Given the description of an element on the screen output the (x, y) to click on. 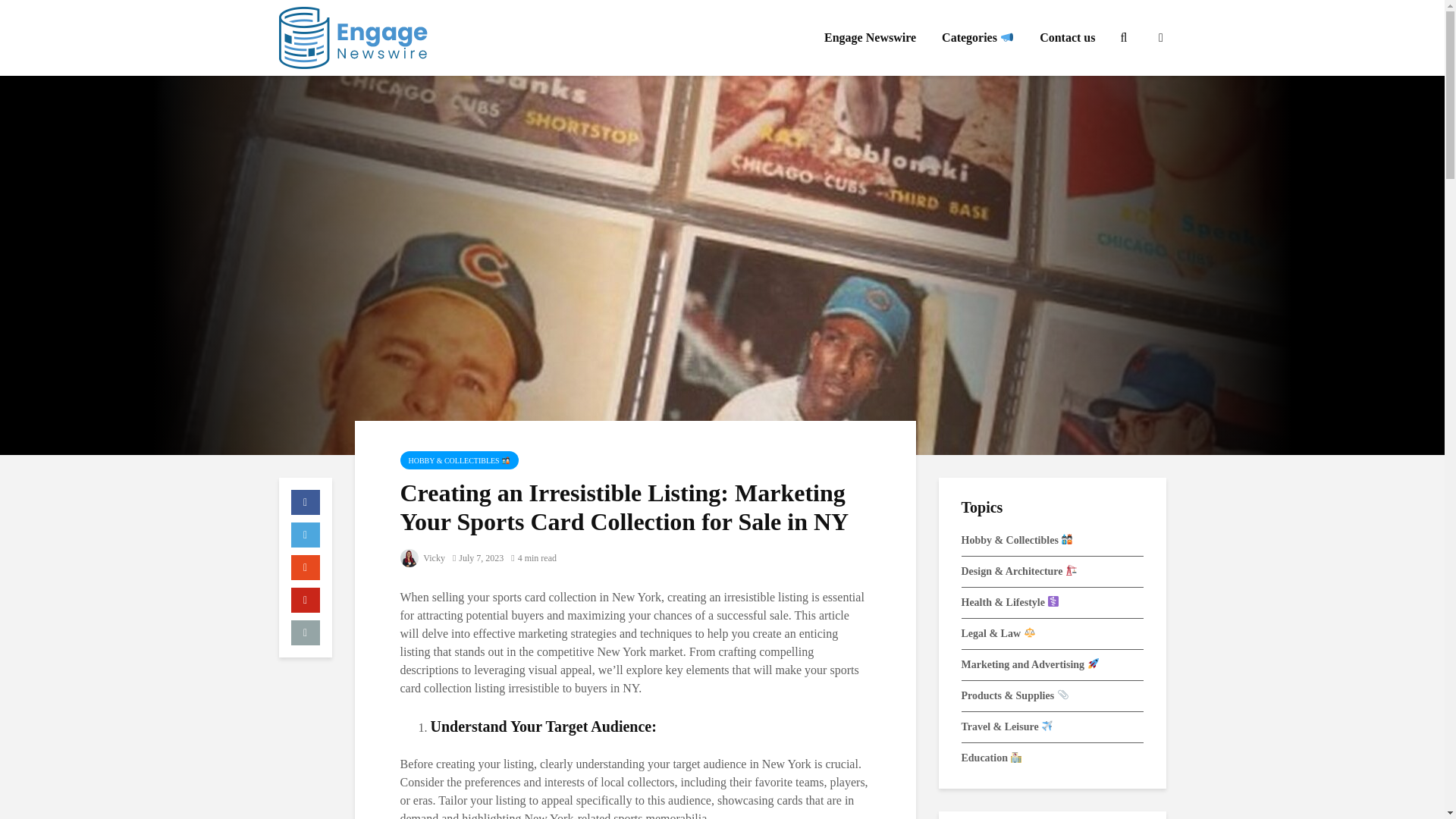
Categories (977, 37)
Engage Newswire (869, 37)
Contact us (1066, 37)
